Given the description of an element on the screen output the (x, y) to click on. 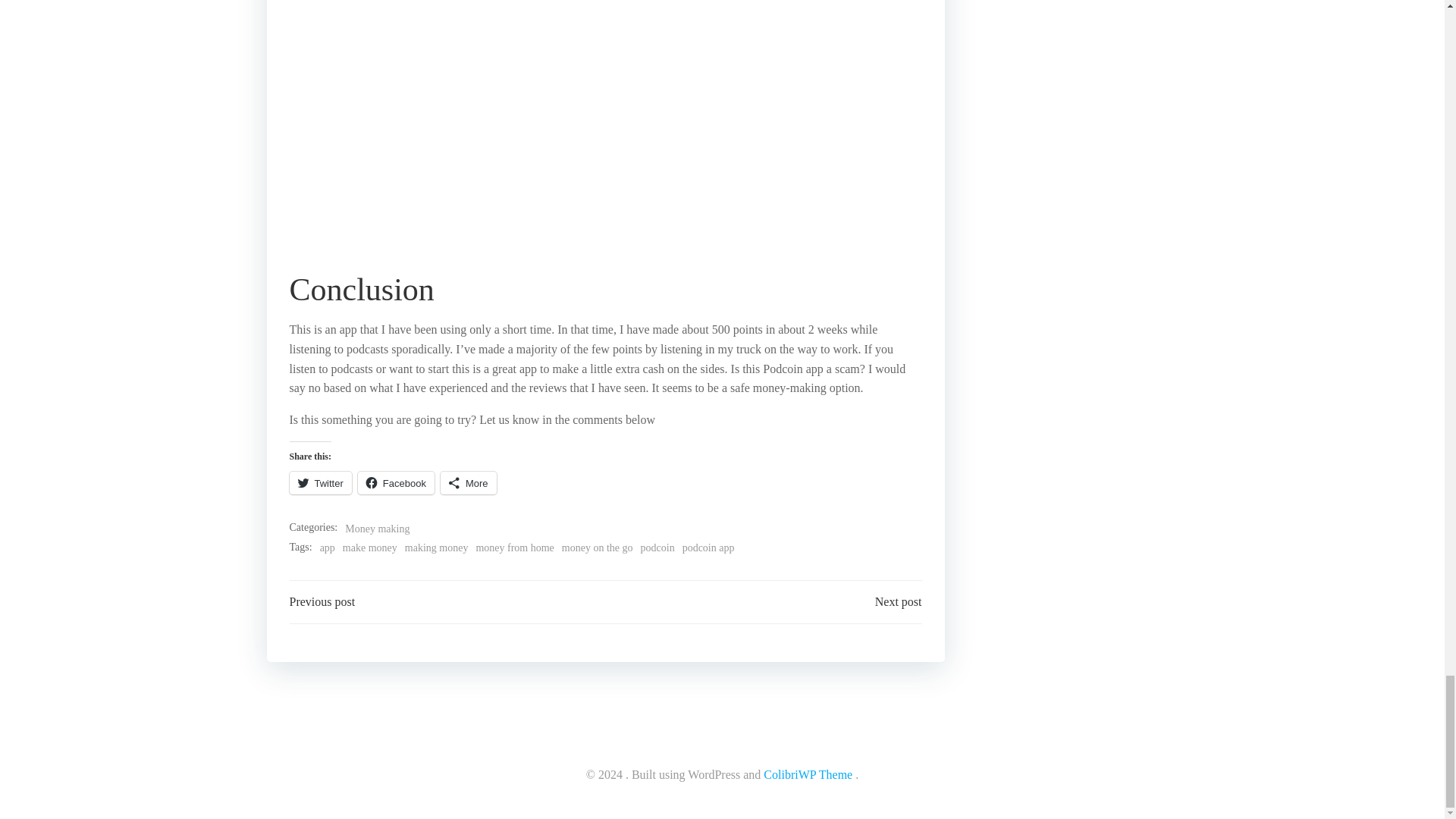
Tag: making money (436, 547)
Click to share on Twitter (320, 482)
Tag: money from home (514, 547)
Tag: money on the go (597, 547)
Click to share on Facebook (395, 482)
Tag: app (327, 547)
Tag: podcoin app (708, 547)
Tag: make money (369, 547)
Tag: podcoin (657, 547)
